Given the description of an element on the screen output the (x, y) to click on. 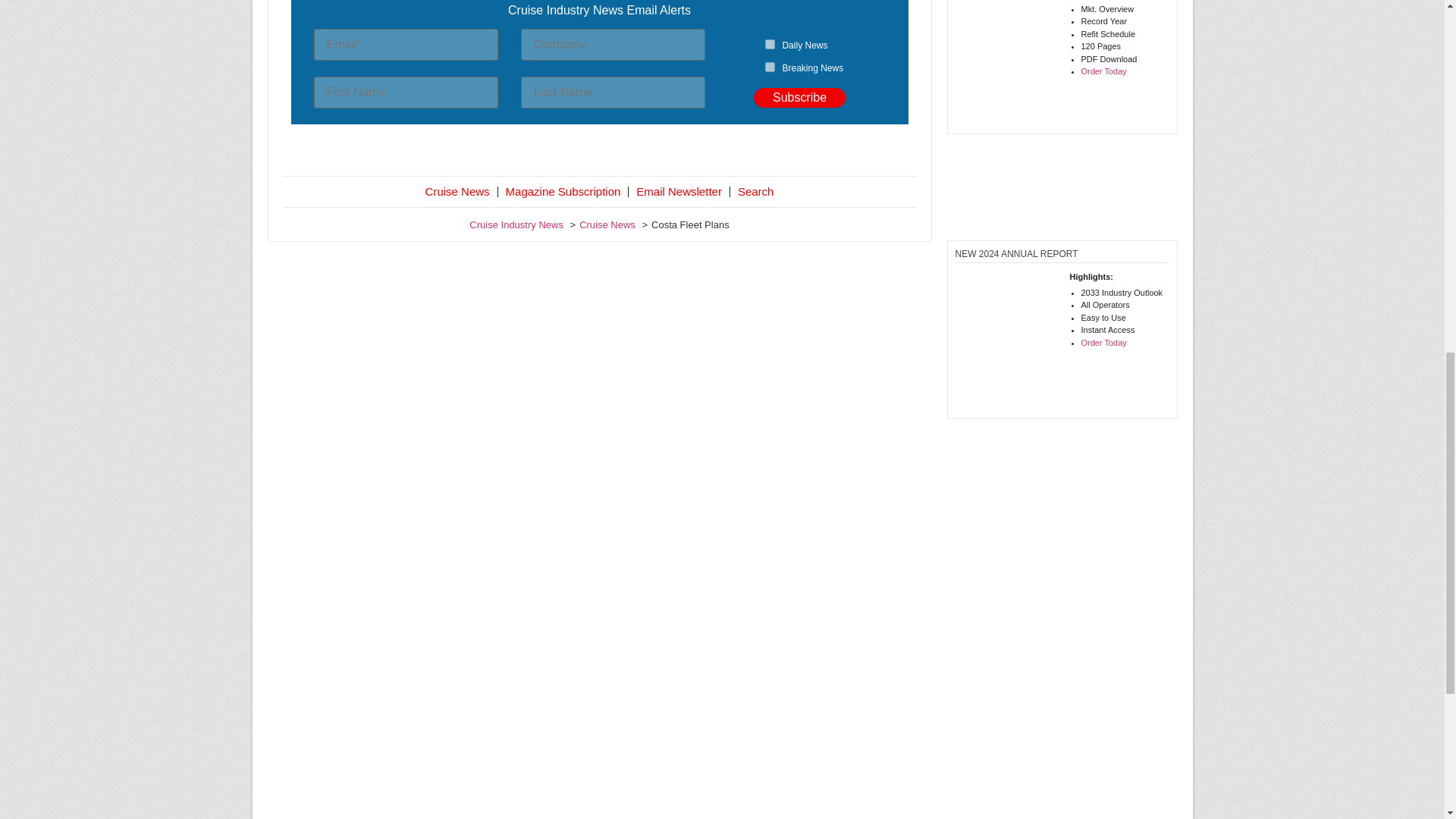
Subscribe (799, 97)
1 (769, 44)
2 (769, 67)
